Given the description of an element on the screen output the (x, y) to click on. 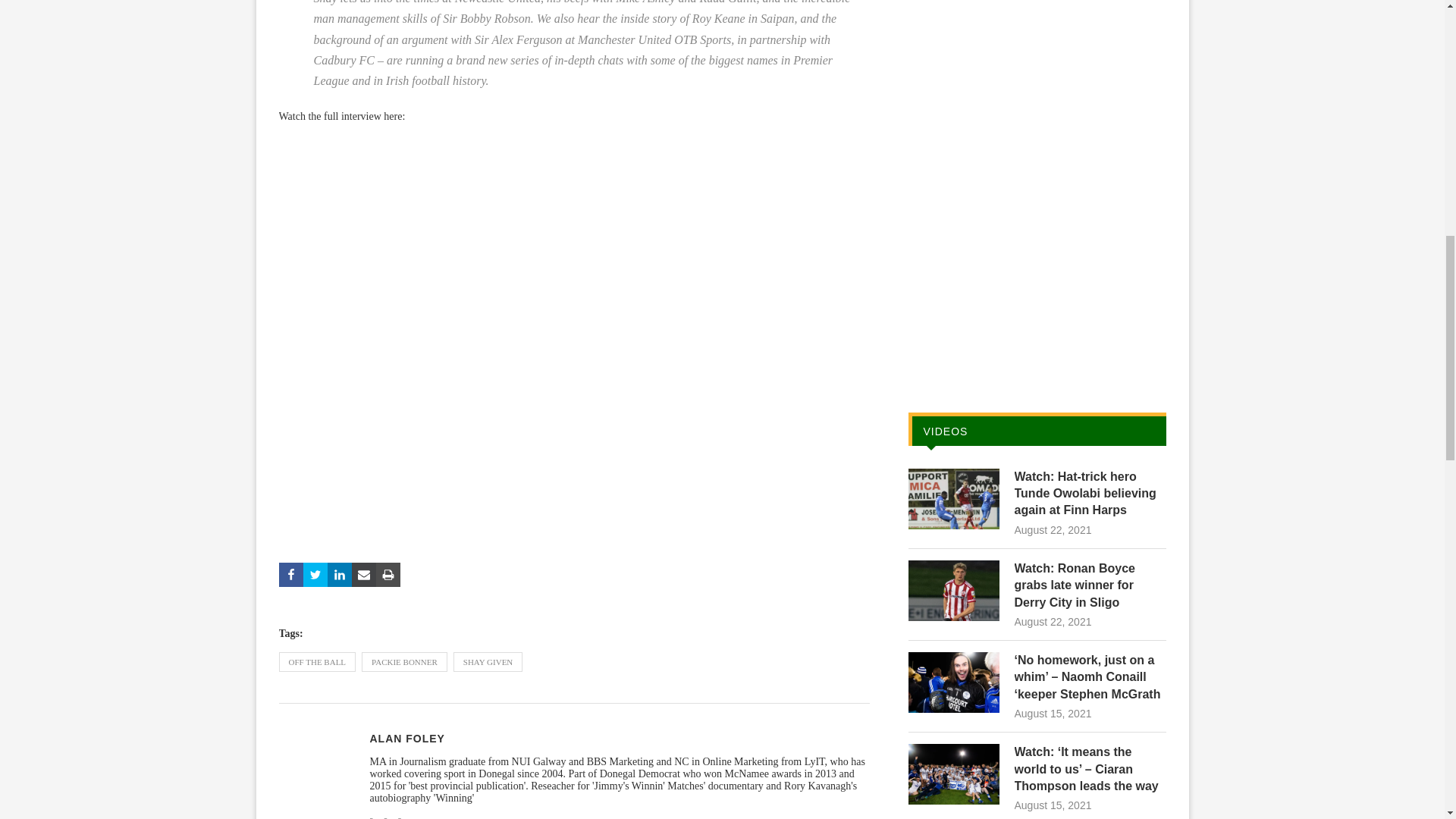
Share via Email (363, 574)
Share on Twitter (314, 574)
Print this Page (387, 574)
Share on LinkedIn (339, 574)
Posts by Alan Foley (407, 738)
Share on Facebook (290, 574)
